Given the description of an element on the screen output the (x, y) to click on. 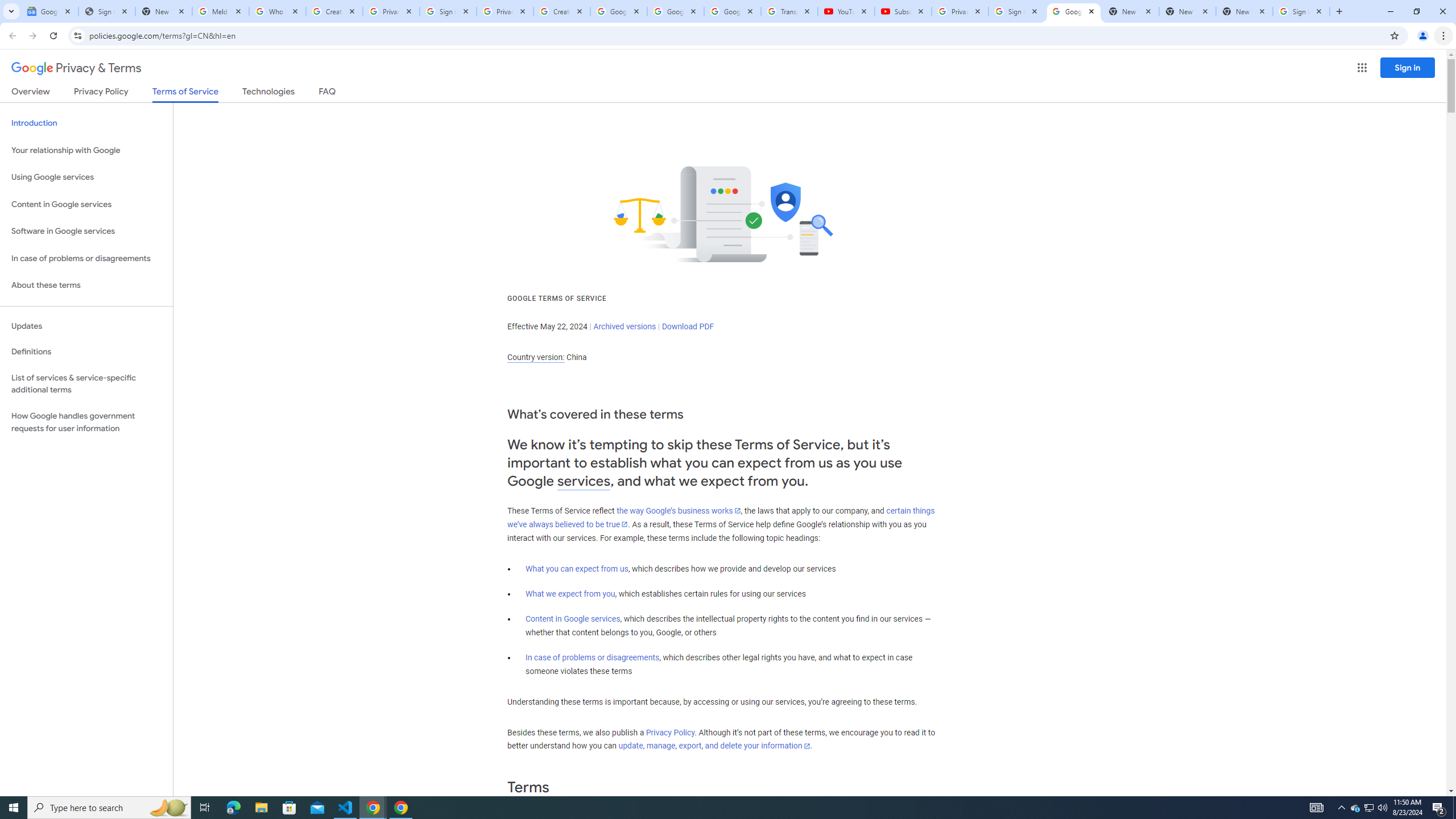
How Google handles government requests for user information (86, 422)
Your relationship with Google (86, 150)
